Given the description of an element on the screen output the (x, y) to click on. 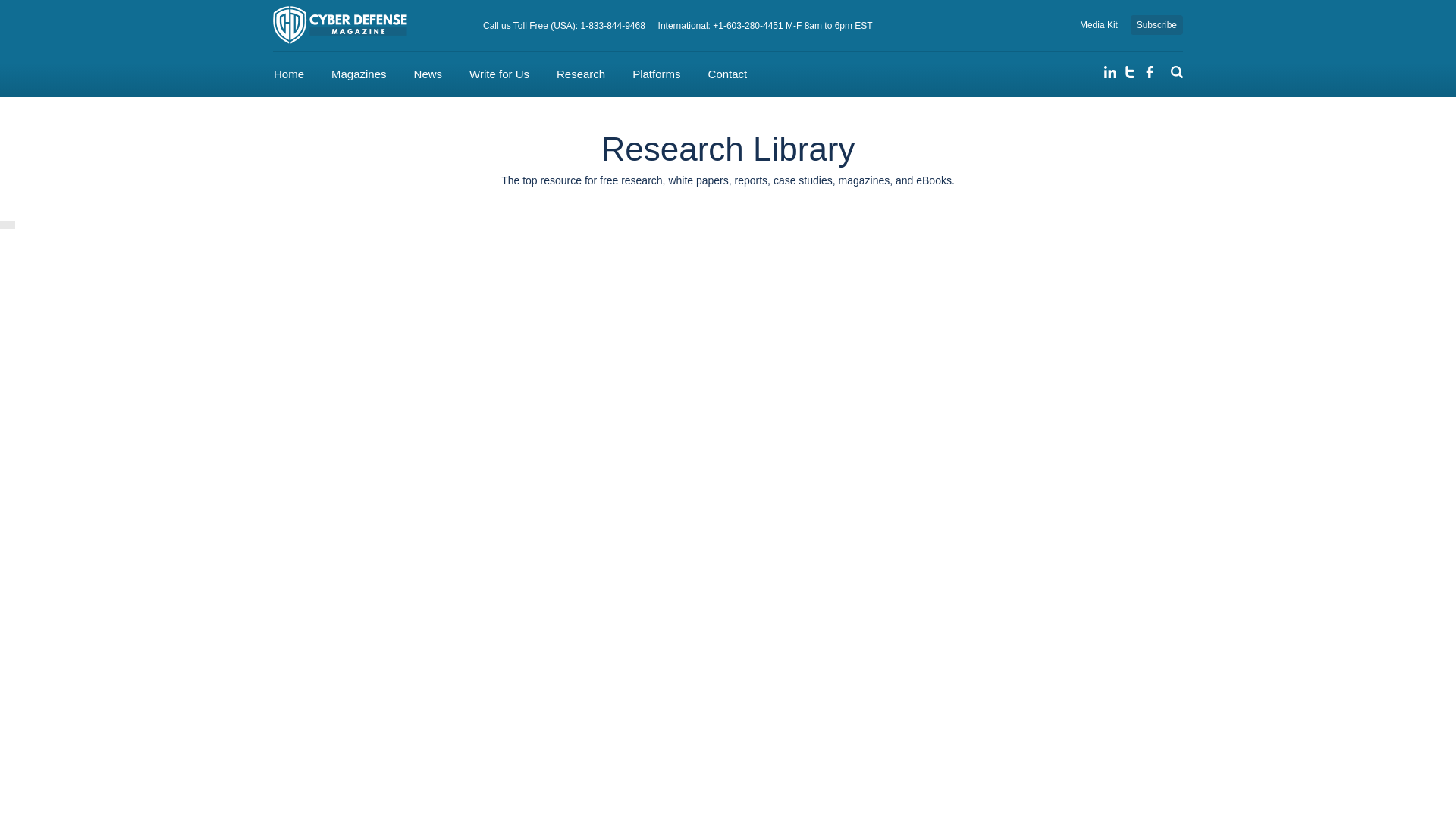
Research (580, 74)
Magazines (359, 74)
Subscribe (1156, 25)
Write for Us (498, 74)
Media Kit (1099, 24)
